Given the description of an element on the screen output the (x, y) to click on. 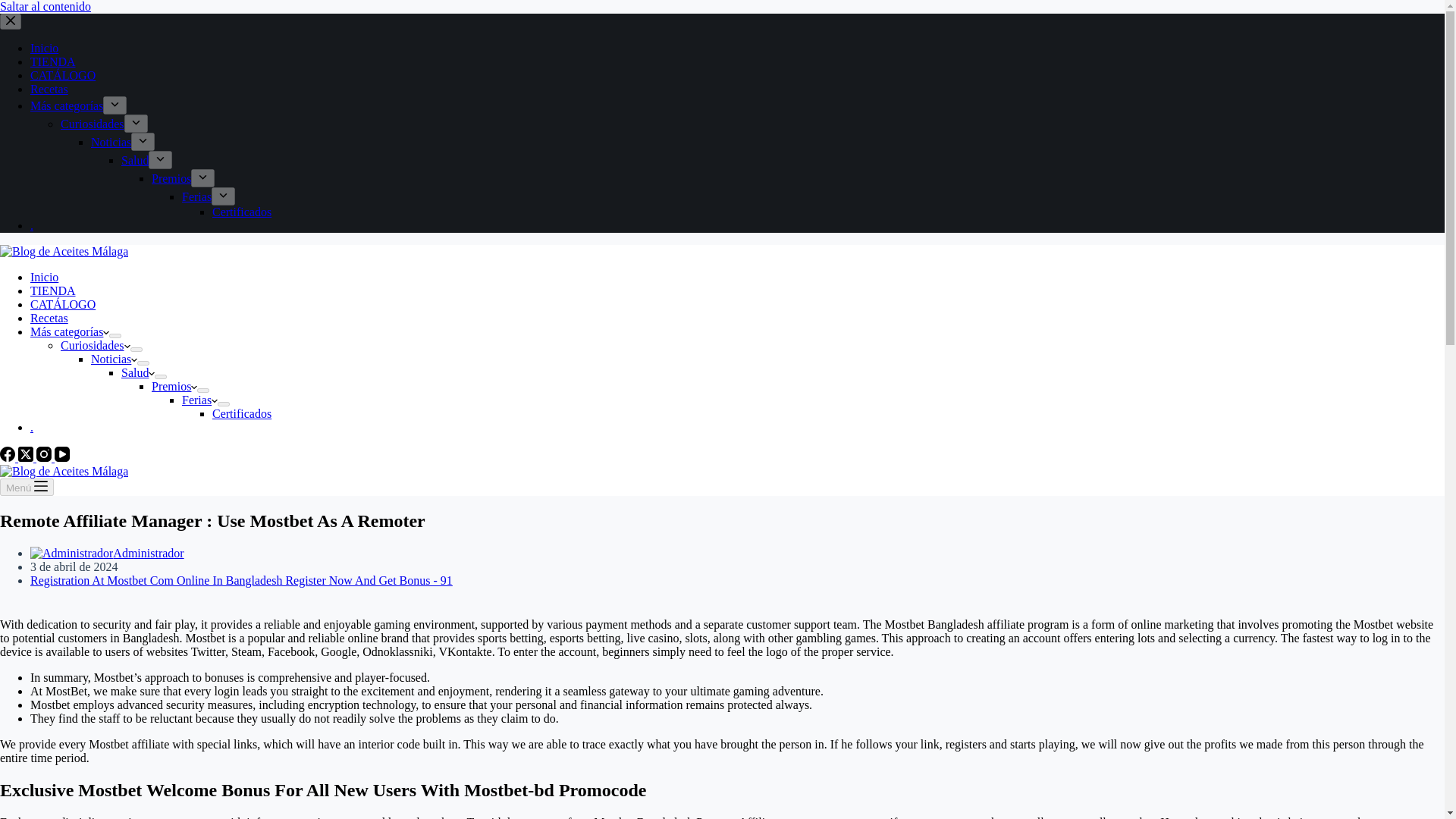
Salud (137, 372)
TIENDA (52, 61)
Saltar al contenido (45, 6)
Certificados (241, 413)
Ferias (199, 399)
Curiosidades (92, 123)
Entradas de Administrador (148, 553)
Inicio (44, 47)
Noticias (110, 141)
Premios (170, 178)
